Given the description of an element on the screen output the (x, y) to click on. 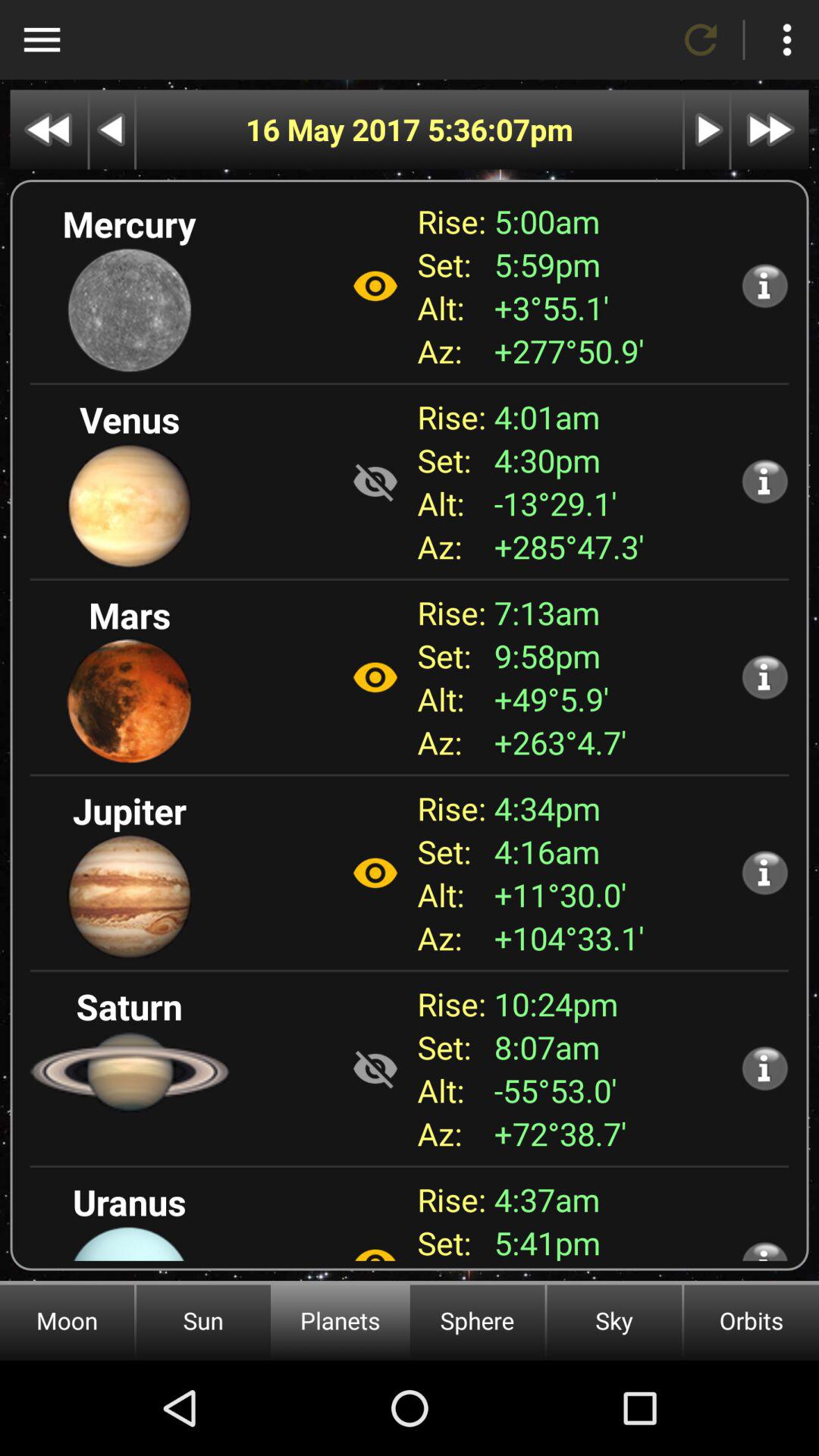
more information about the planet (764, 872)
